Given the description of an element on the screen output the (x, y) to click on. 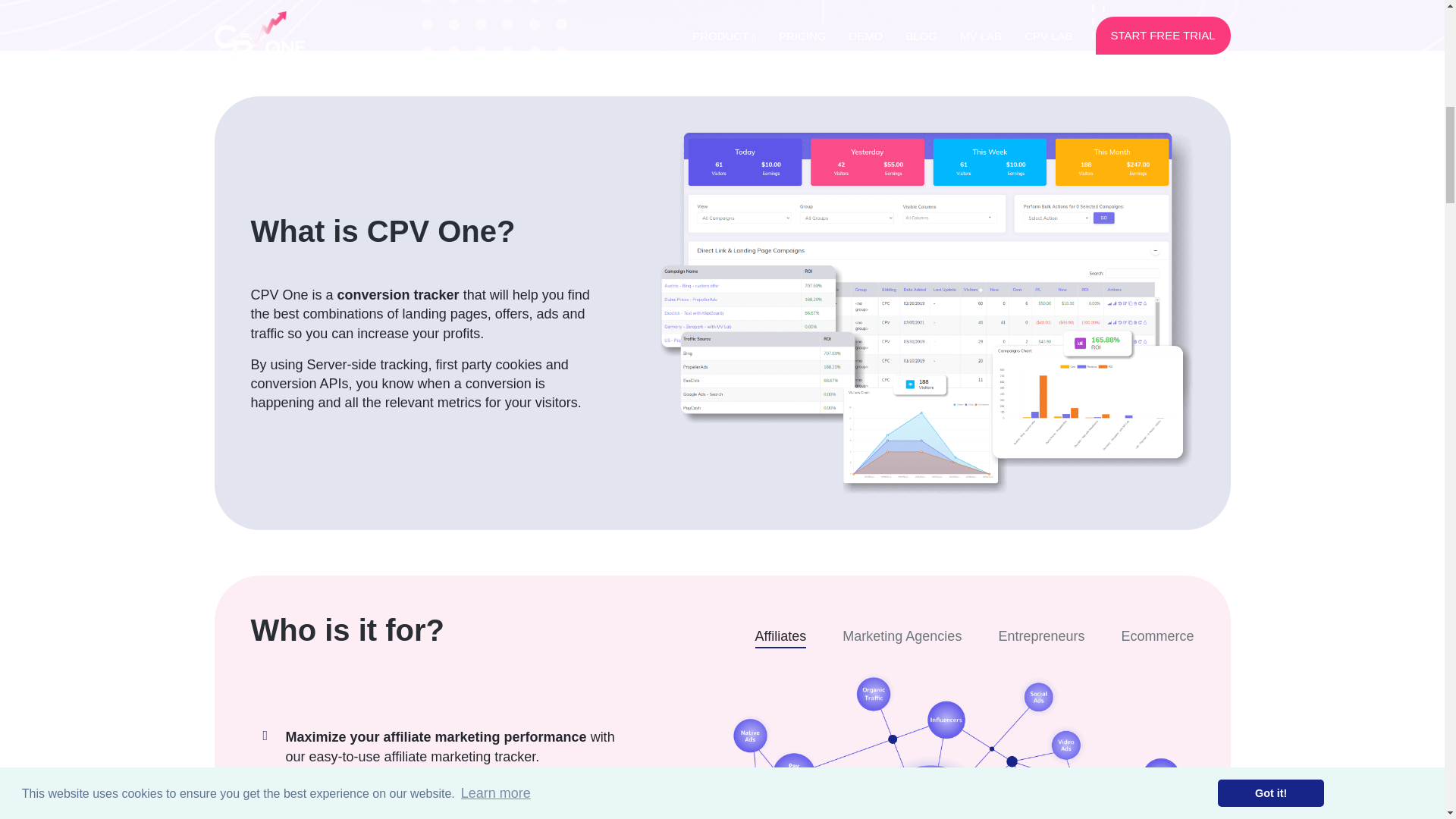
Entrepreneurs (1040, 637)
Affiliates (780, 637)
Marketing Agencies (901, 637)
Ecommerce (1157, 637)
